Given the description of an element on the screen output the (x, y) to click on. 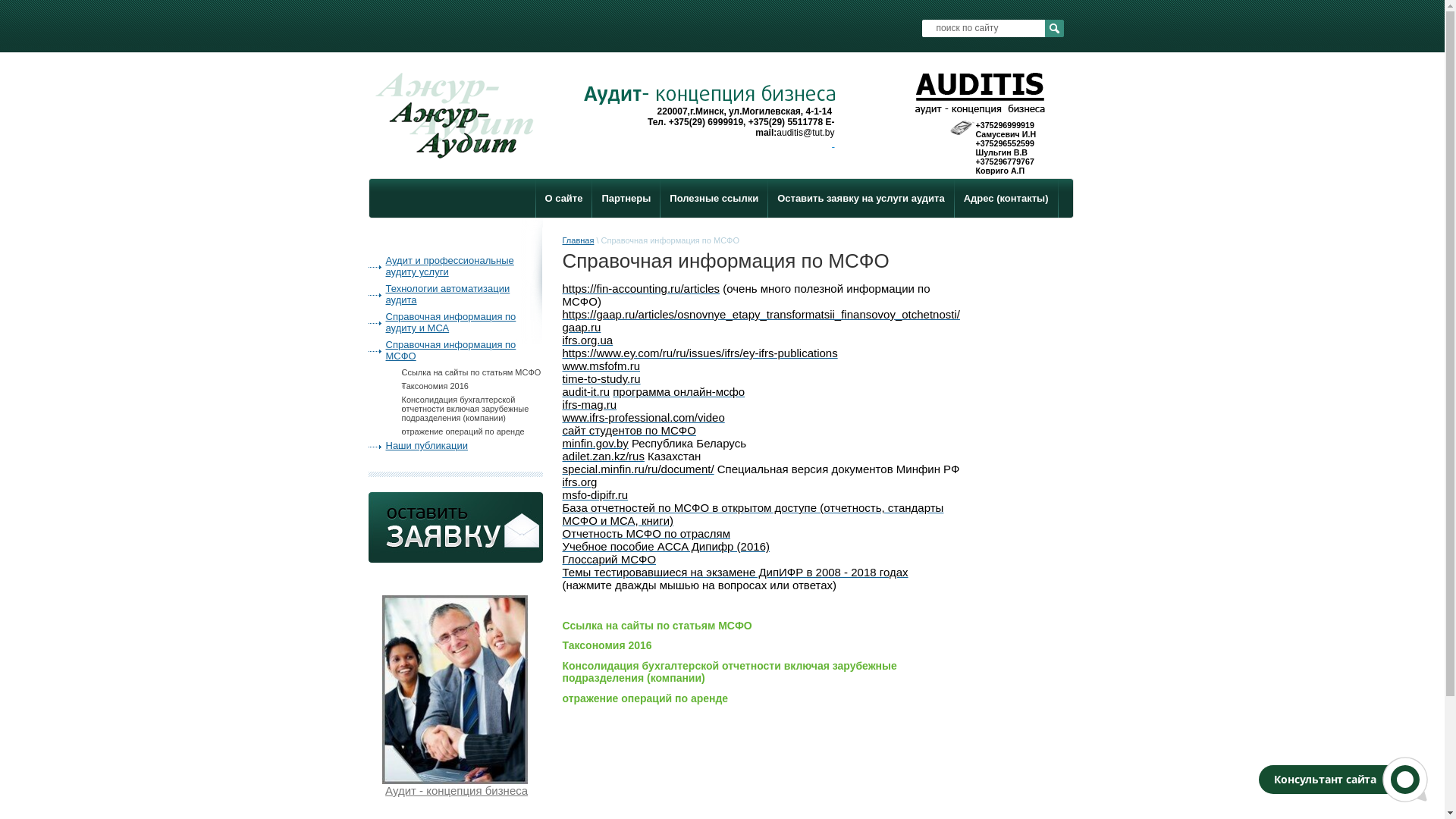
minfin.gov.by Element type: text (595, 442)
ifrs.org.ua Element type: text (587, 339)
https://www.ey.com/ru/ru/issues/ifrs/ey-ifrs-publications Element type: text (699, 352)
msfo-dipifr.ru Element type: text (595, 494)
  Element type: text (832, 143)
www.ifrs-professional.com/video Element type: text (643, 417)
audit-it.ru Element type: text (586, 391)
ifrs.org Element type: text (579, 481)
https://fin-accounting.ru/articles Element type: text (641, 288)
adilet.zan.kz/rus Element type: text (603, 455)
ifrs-mag.ru Element type: text (589, 404)
www.msfofm.ru Element type: text (601, 365)
gaap.ru Element type: text (581, 326)
time-to-study.ru Element type: text (601, 378)
special.minfin.ru/ru/document/ Element type: text (638, 468)
